Given the description of an element on the screen output the (x, y) to click on. 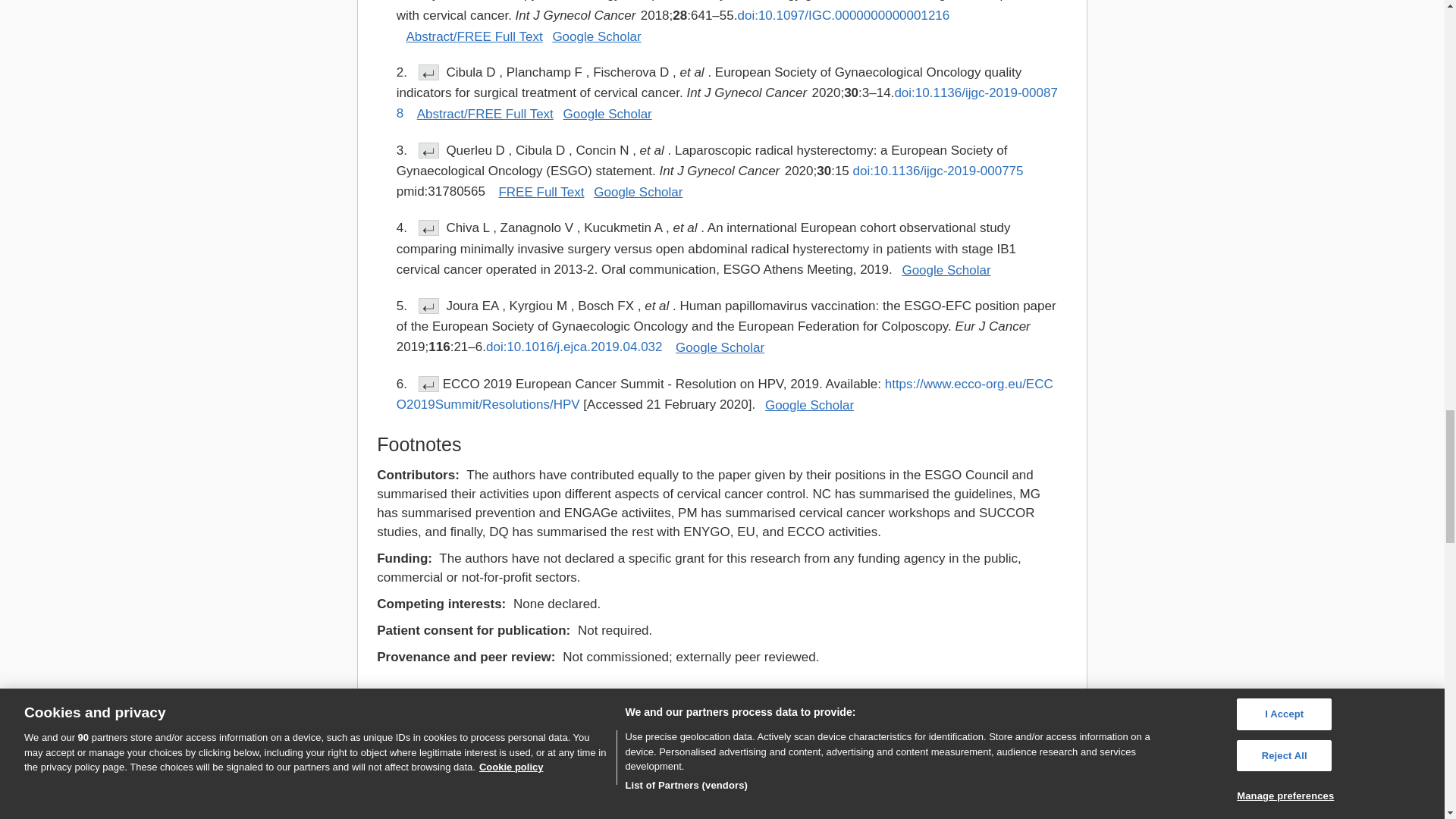
3rd party ad content (490, 746)
View reference 4 in text (429, 227)
View reference 5 in text (429, 305)
View reference 3 in text (429, 150)
View reference 6 in text (429, 383)
View reference 2 in text (429, 72)
